Given the description of an element on the screen output the (x, y) to click on. 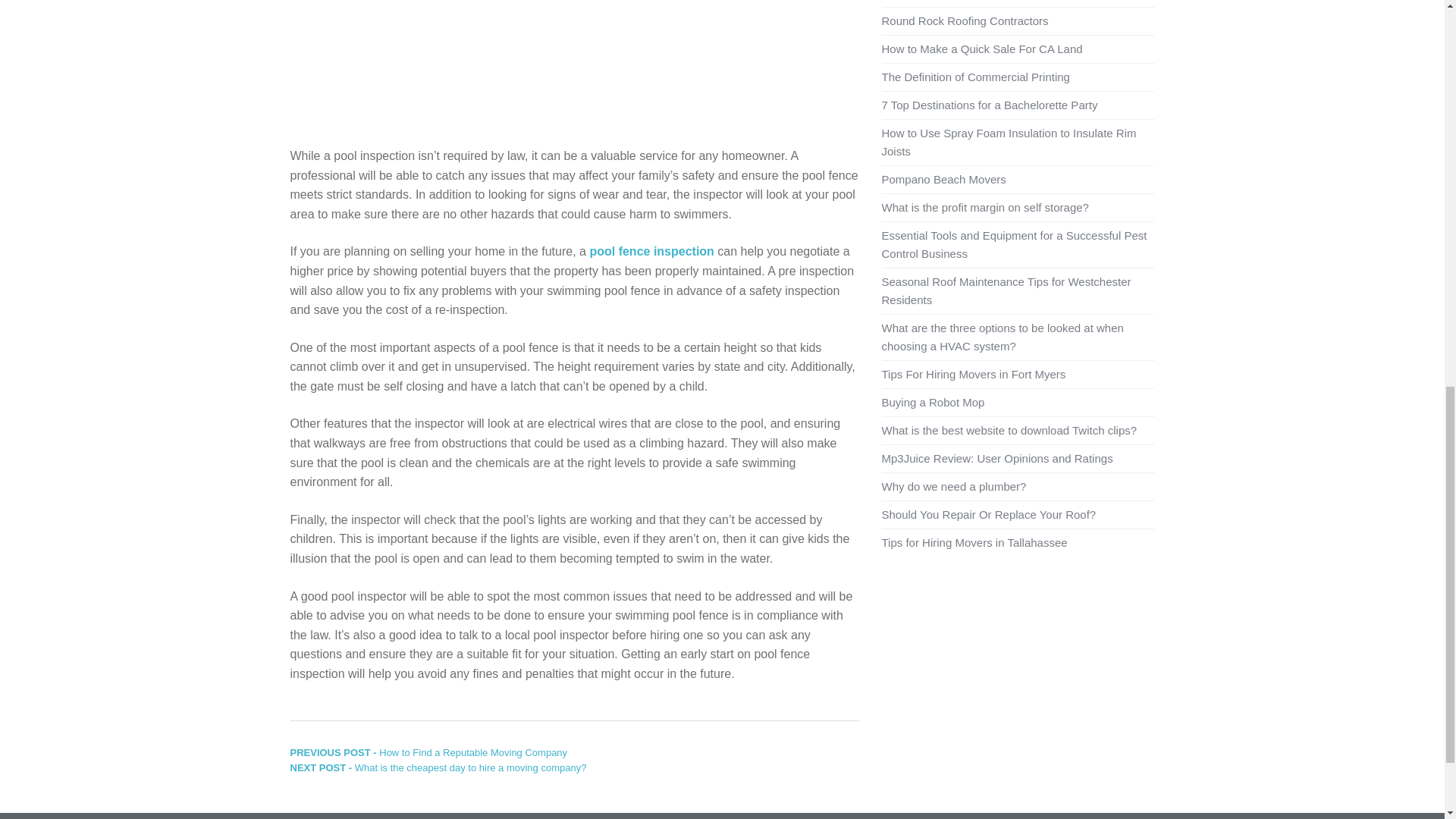
Mp3Juice Review: User Opinions and Ratings (996, 458)
Pompano Beach Movers (943, 178)
Seasonal Roof Maintenance Tips for Westchester Residents (1005, 290)
How to Use Spray Foam Insulation to Insulate Rim Joists (1007, 142)
Buying a Robot Mop (932, 401)
What is the best website to download Twitch clips? (1008, 430)
Should You Repair Or Replace Your Roof? (988, 513)
Round Rock Roofing Contractors (964, 20)
pool fence inspection (651, 250)
